Given the description of an element on the screen output the (x, y) to click on. 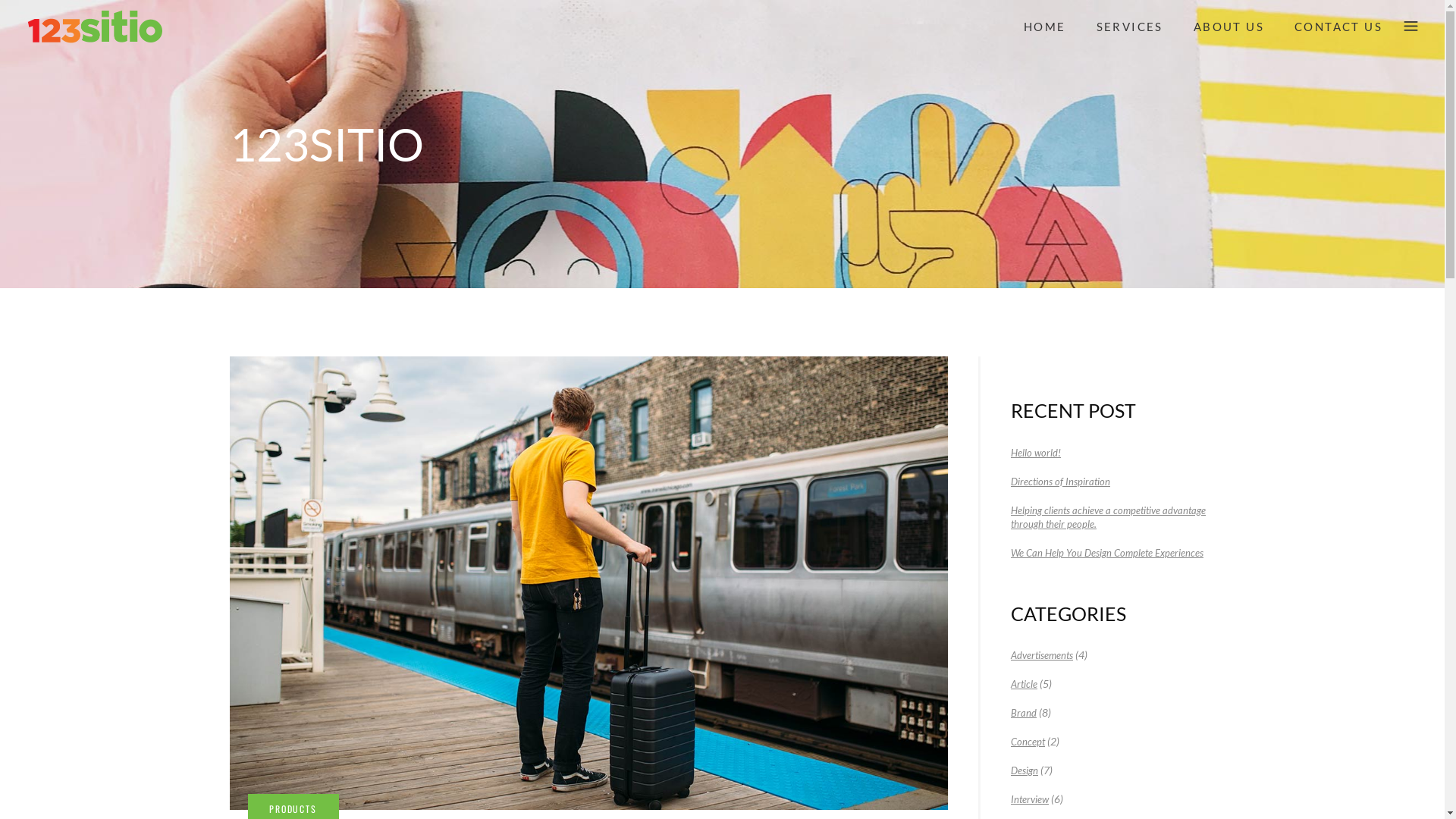
Directions of Inspiration Element type: text (1060, 480)
We Can Help You Design Complete Experiences Element type: text (1106, 552)
Design Element type: text (1024, 770)
SERVICES Element type: text (1129, 26)
ABOUT US Element type: text (1228, 26)
Interview Element type: text (1029, 799)
Brand Element type: text (1023, 712)
Advertisements Element type: text (1041, 655)
Concept Element type: text (1027, 741)
Article Element type: text (1023, 683)
CONTACT US Element type: text (1338, 26)
HOME Element type: text (1044, 26)
Hello world! Element type: text (1035, 451)
